Given the description of an element on the screen output the (x, y) to click on. 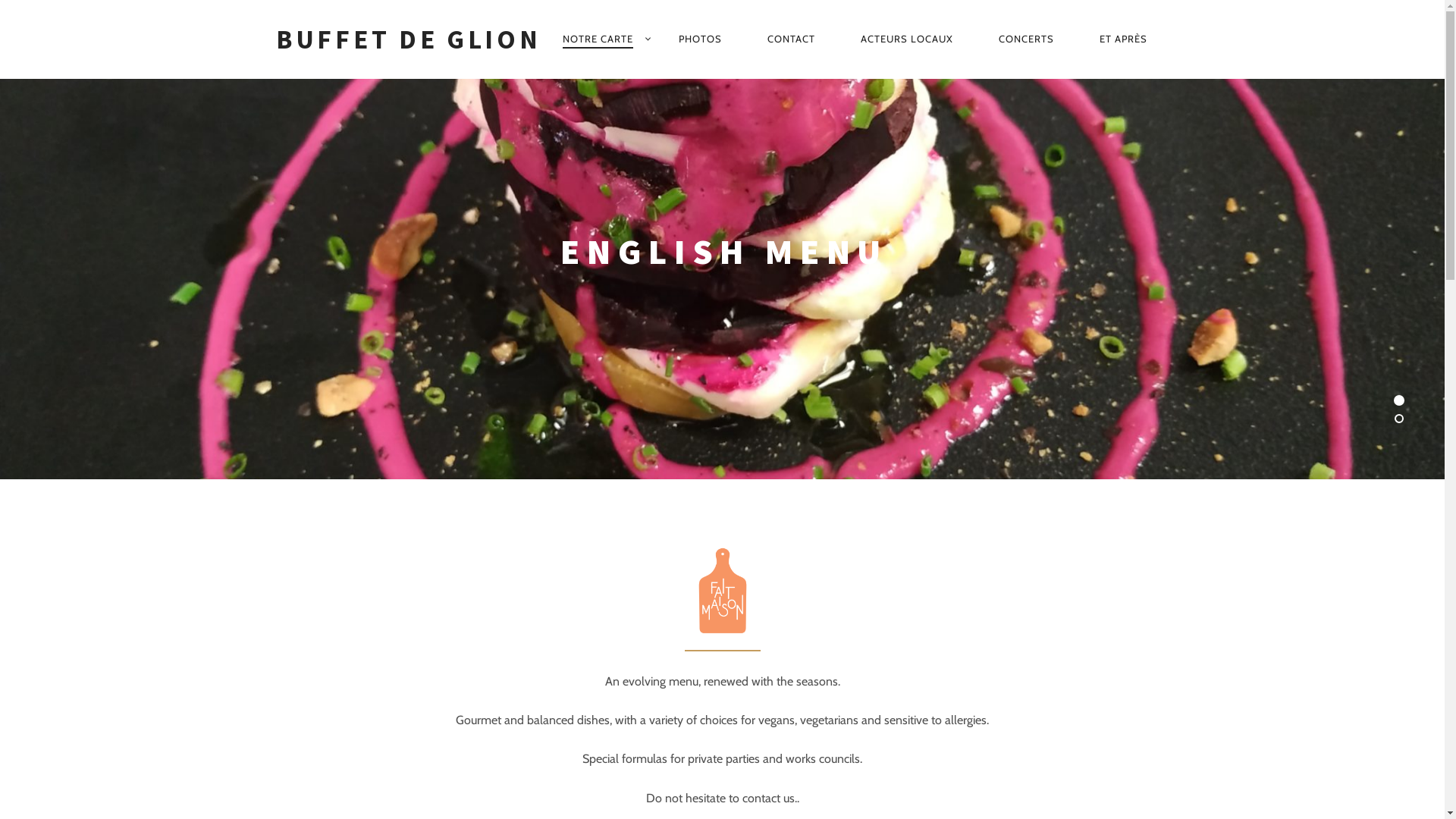
NOTRE CARTE Element type: text (597, 39)
ACTEURS LOCAUX Element type: text (906, 38)
CONTACT Element type: text (791, 38)
CONCERTS Element type: text (1026, 38)
BUFFET DE GLION Element type: text (408, 39)
PHOTOS Element type: text (700, 38)
